Given the description of an element on the screen output the (x, y) to click on. 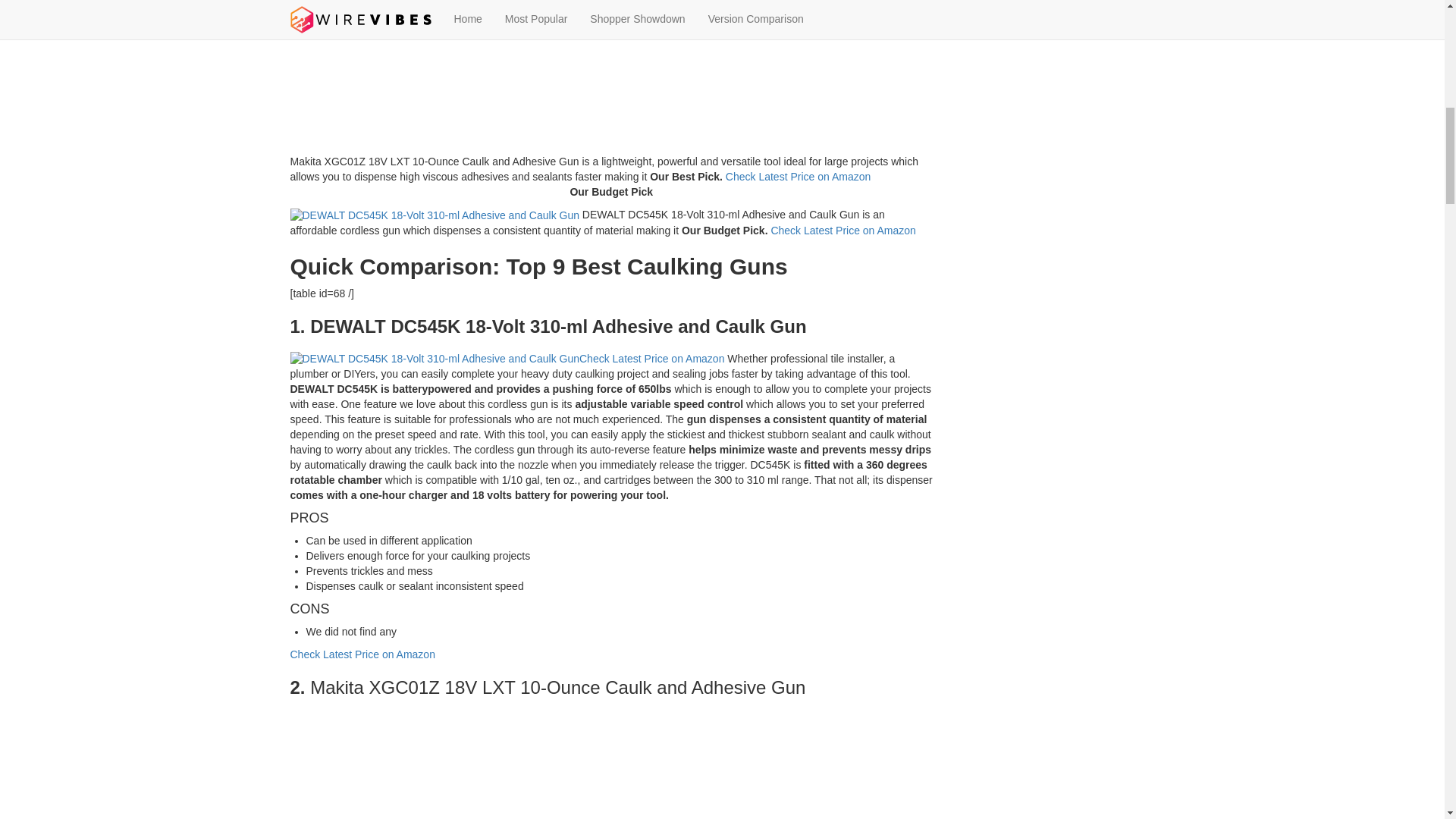
Check Latest Price on Amazon (842, 230)
Check Latest Price on Amazon (651, 358)
Makita XGC01Z 18V LXT 10-Ounce Caulk and Adhesive Gun (611, 765)
Check Latest Price on Amazon (797, 176)
Makita XGC01Z 18V LXT 10-Ounce Caulk and Adhesive Gun (611, 77)
DEWALT DC545K 18-Volt 310-ml Adhesive and Caulk Gun (433, 215)
Check Latest Price on Amazon (361, 654)
DEWALT DC545K 18-Volt 310-ml Adhesive and Caulk Gun (433, 359)
